Given the description of an element on the screen output the (x, y) to click on. 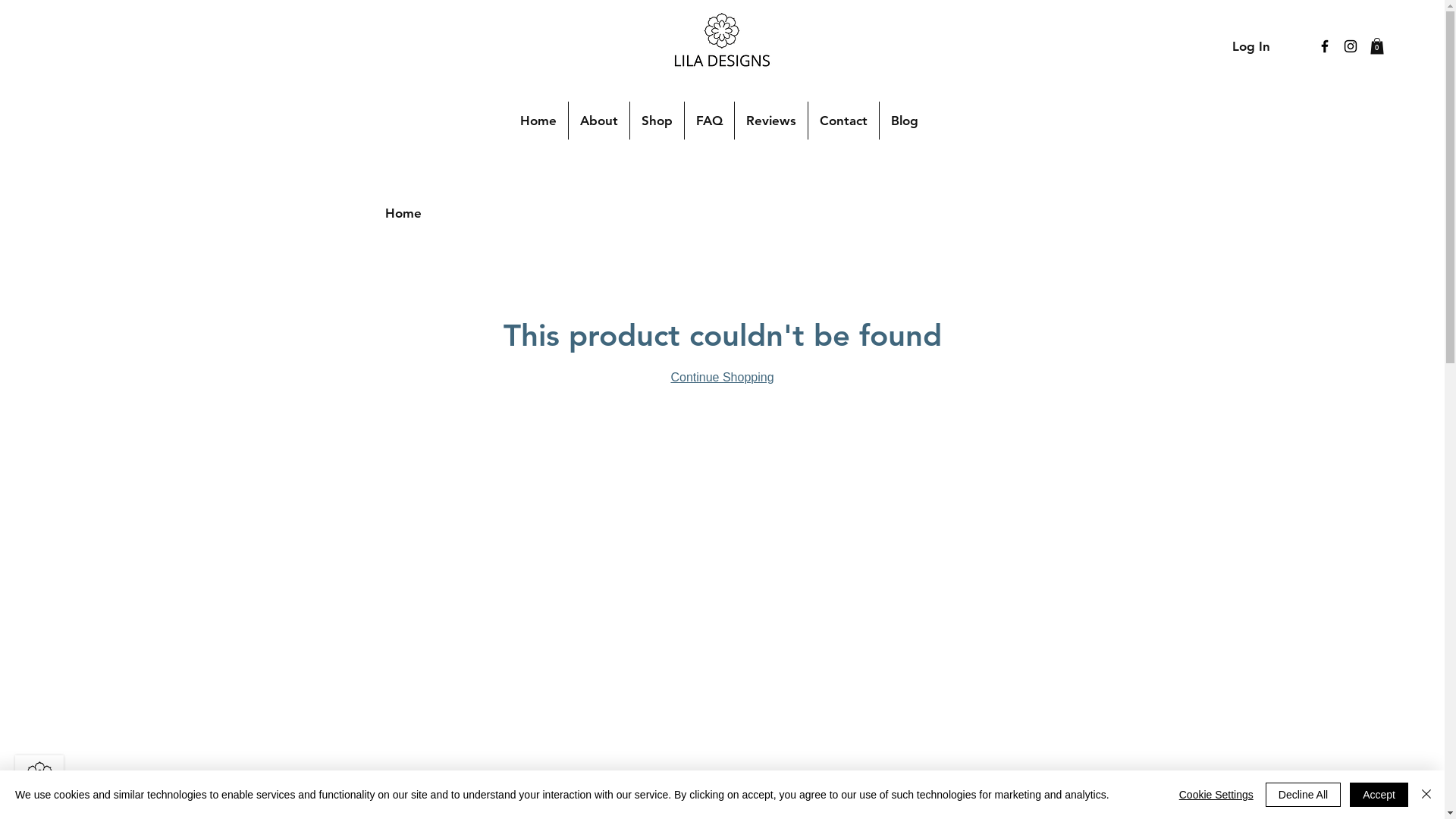
About Element type: text (598, 120)
Accept Element type: text (1378, 794)
0 Element type: text (1376, 45)
FAQ Element type: text (709, 120)
Blog Element type: text (904, 120)
Home Element type: text (537, 120)
Home Element type: text (403, 212)
Continue Shopping Element type: text (721, 376)
Decline All Element type: text (1302, 794)
Reviews Element type: text (770, 120)
Log In Element type: text (1250, 46)
Contact Element type: text (843, 120)
